Given the description of an element on the screen output the (x, y) to click on. 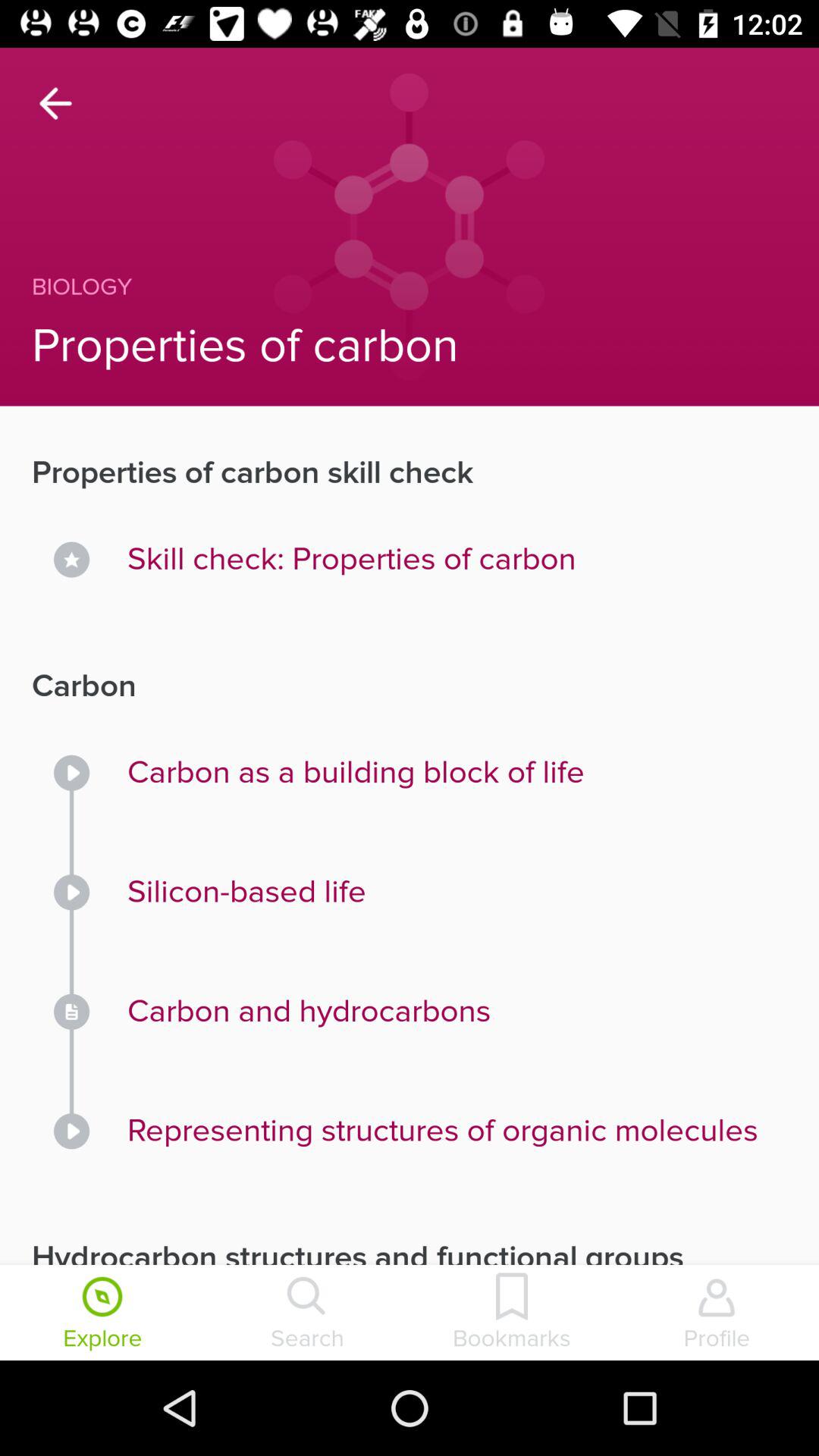
press item to the left of the bookmarks (306, 1314)
